Given the description of an element on the screen output the (x, y) to click on. 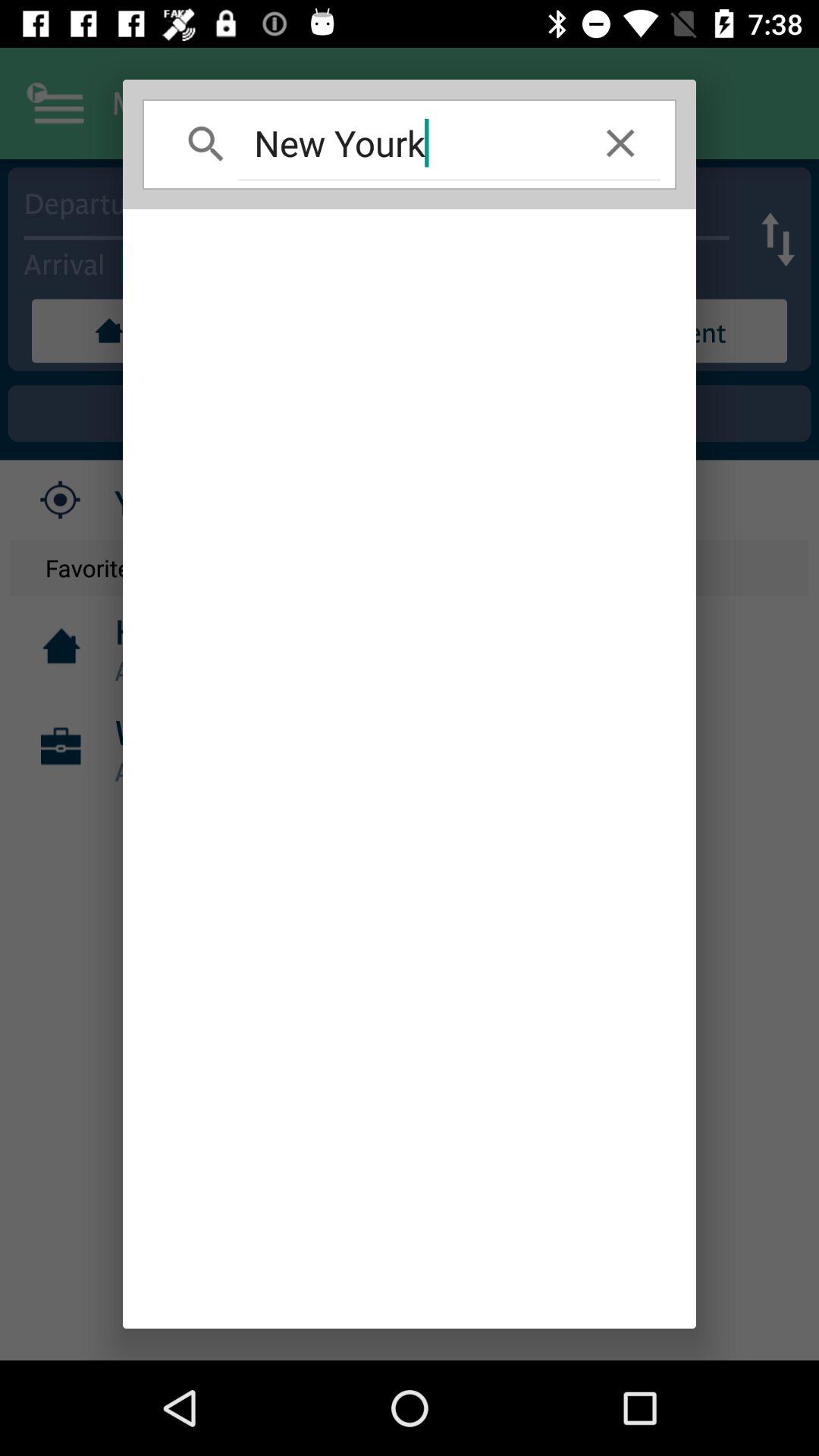
press item next to new yourk icon (620, 143)
